Given the description of an element on the screen output the (x, y) to click on. 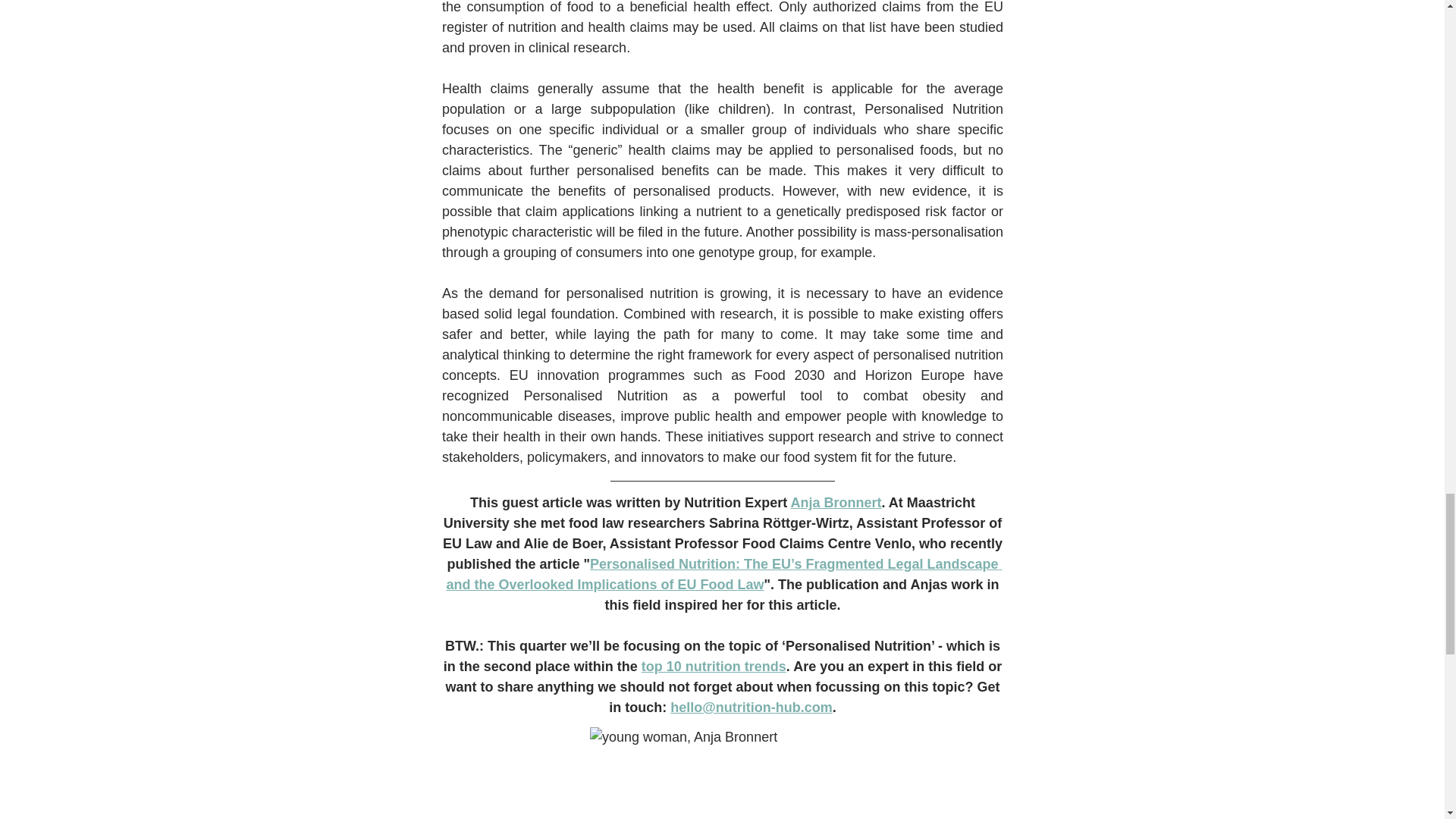
top 10 nutrition trends (713, 667)
Anja Bronnert (835, 503)
